Given the description of an element on the screen output the (x, y) to click on. 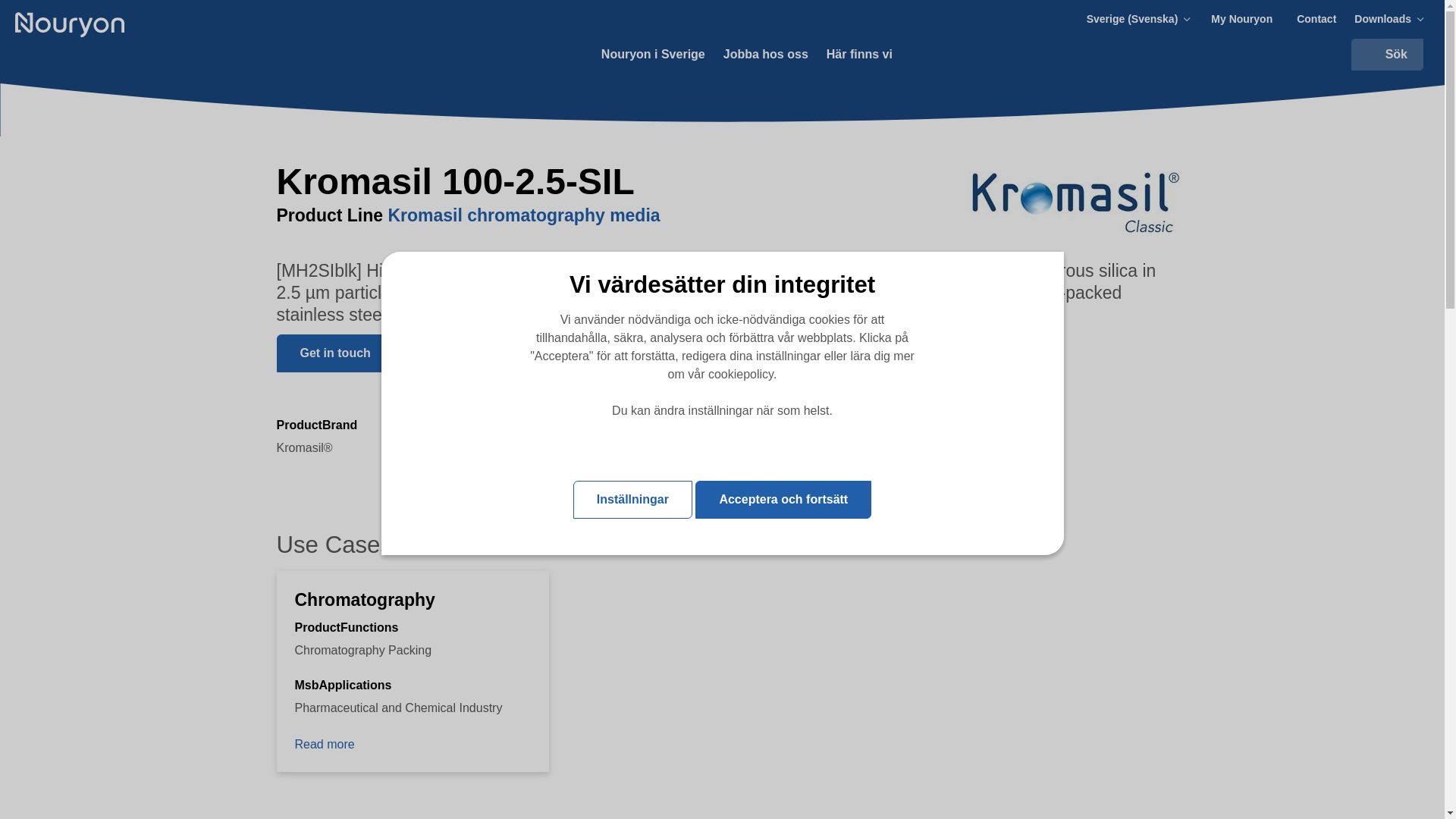
My Nouryon (1241, 19)
Nouryon i Sverige (652, 54)
Downloads (1390, 19)
My Nouryon (1241, 19)
Jobba hos oss (765, 54)
Contact (1316, 19)
Get in touch (334, 353)
